Given the description of an element on the screen output the (x, y) to click on. 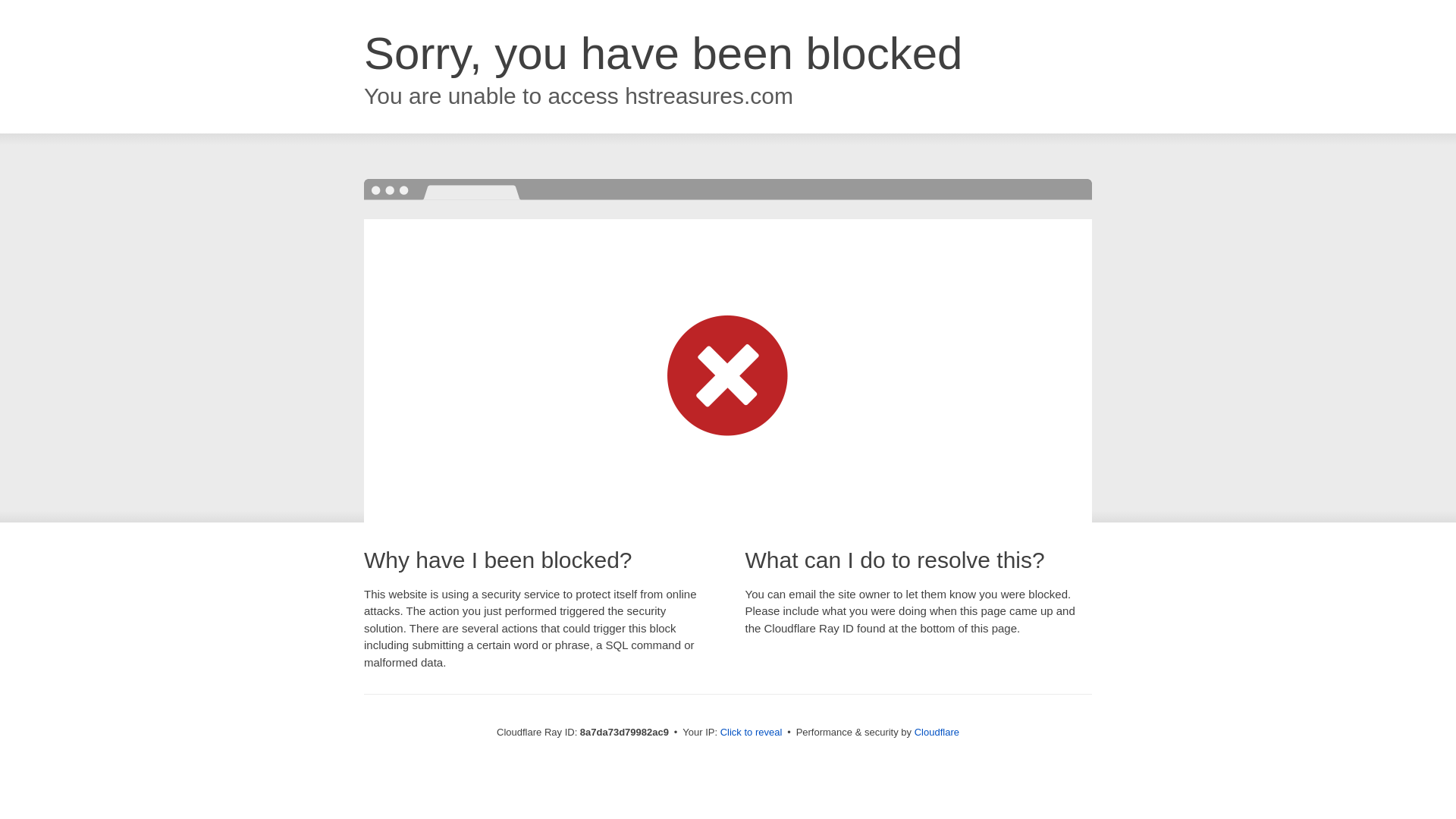
Click to reveal (751, 732)
Cloudflare (936, 731)
